Given the description of an element on the screen output the (x, y) to click on. 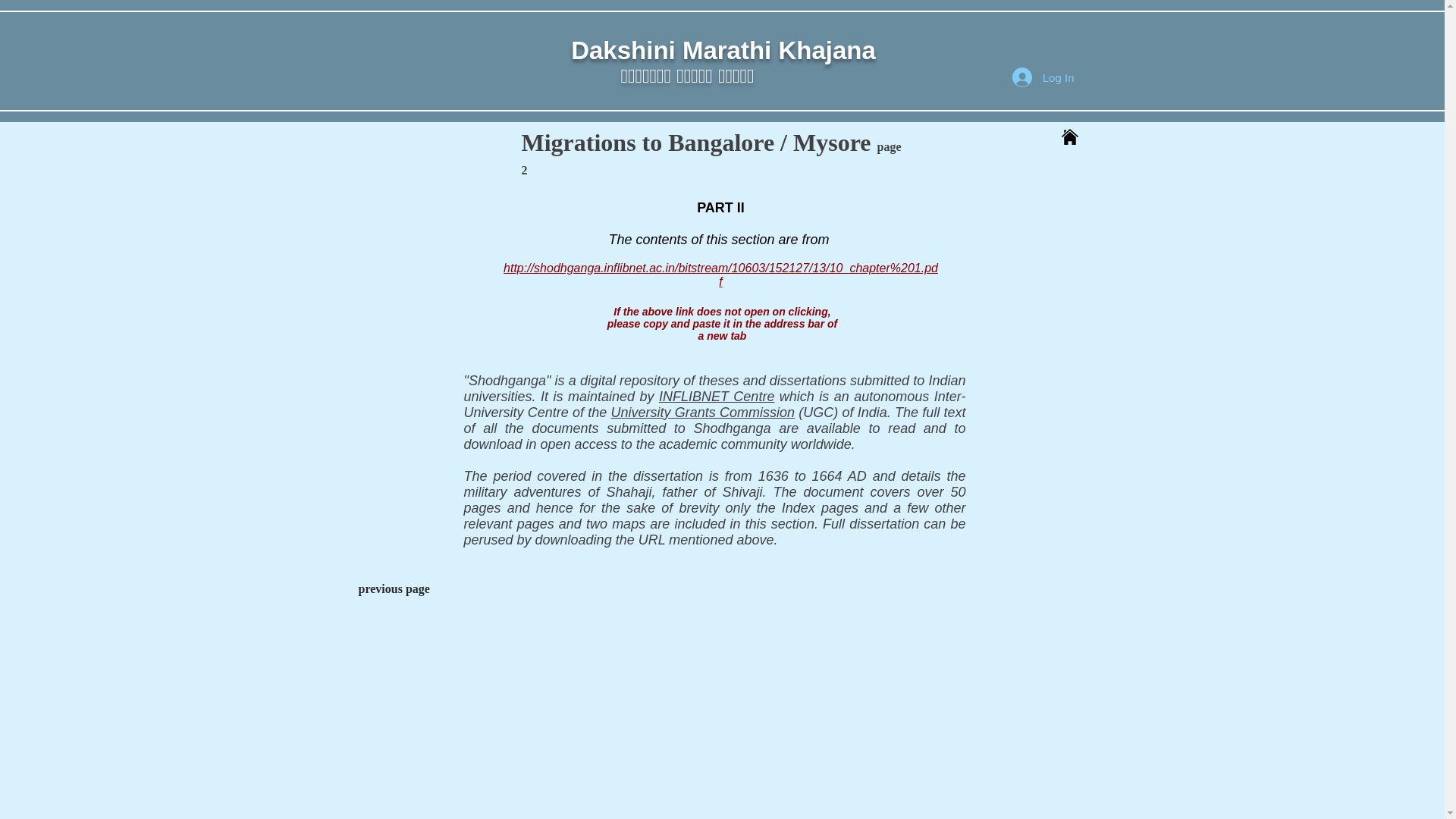
previous page (393, 588)
Log In (1042, 77)
University Grants Commission (702, 412)
INFLIBNET Centre (716, 396)
